Given the description of an element on the screen output the (x, y) to click on. 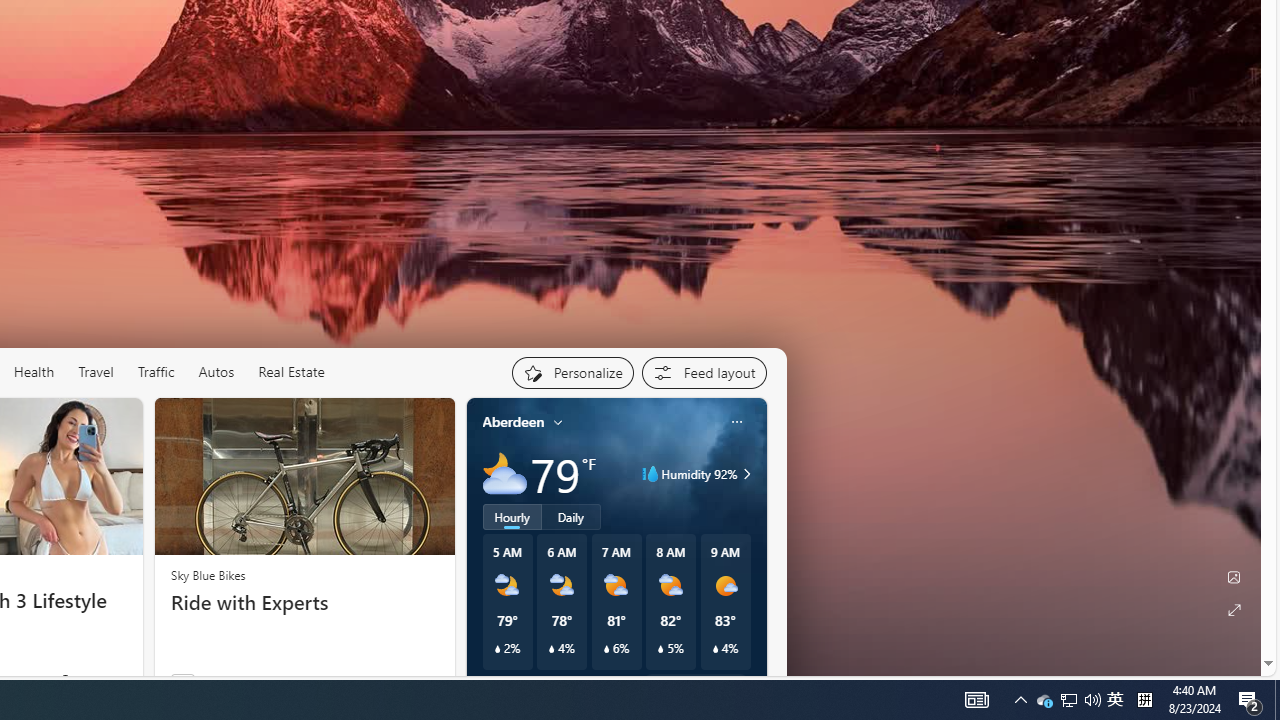
Class: weather-current-precipitation-glyph (715, 649)
Expand background (1233, 610)
Autos (215, 371)
You're following Newsweek (92, 679)
next (756, 549)
Autos (216, 372)
Ride with Experts (304, 602)
Class: icon-img (736, 421)
See full forecast (695, 685)
Humidity 92% (744, 474)
Mostly cloudy (504, 474)
